Given the description of an element on the screen output the (x, y) to click on. 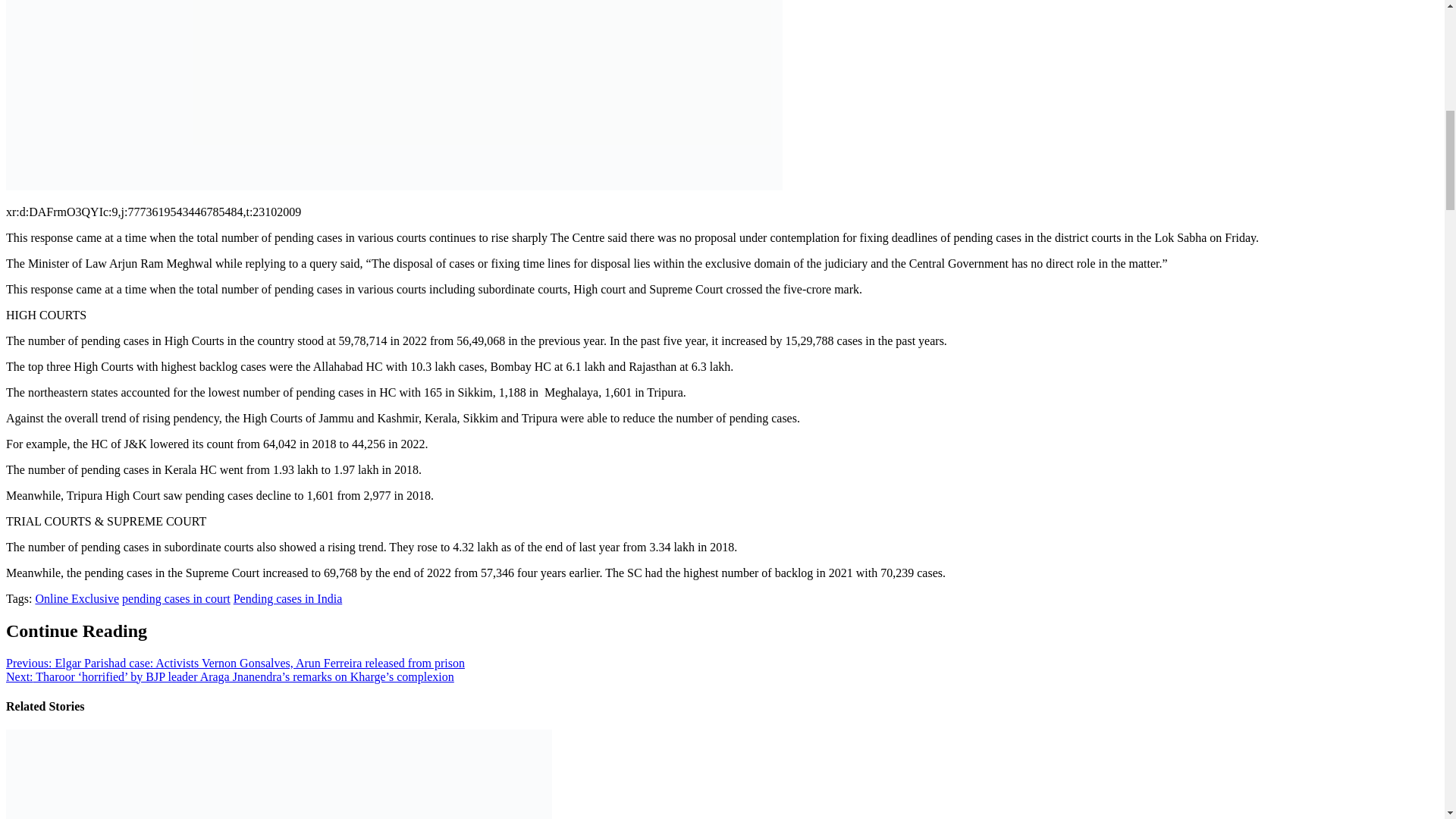
Online Exclusive (76, 598)
pending cases in court (176, 598)
Pending cases in India (287, 598)
